Given the description of an element on the screen output the (x, y) to click on. 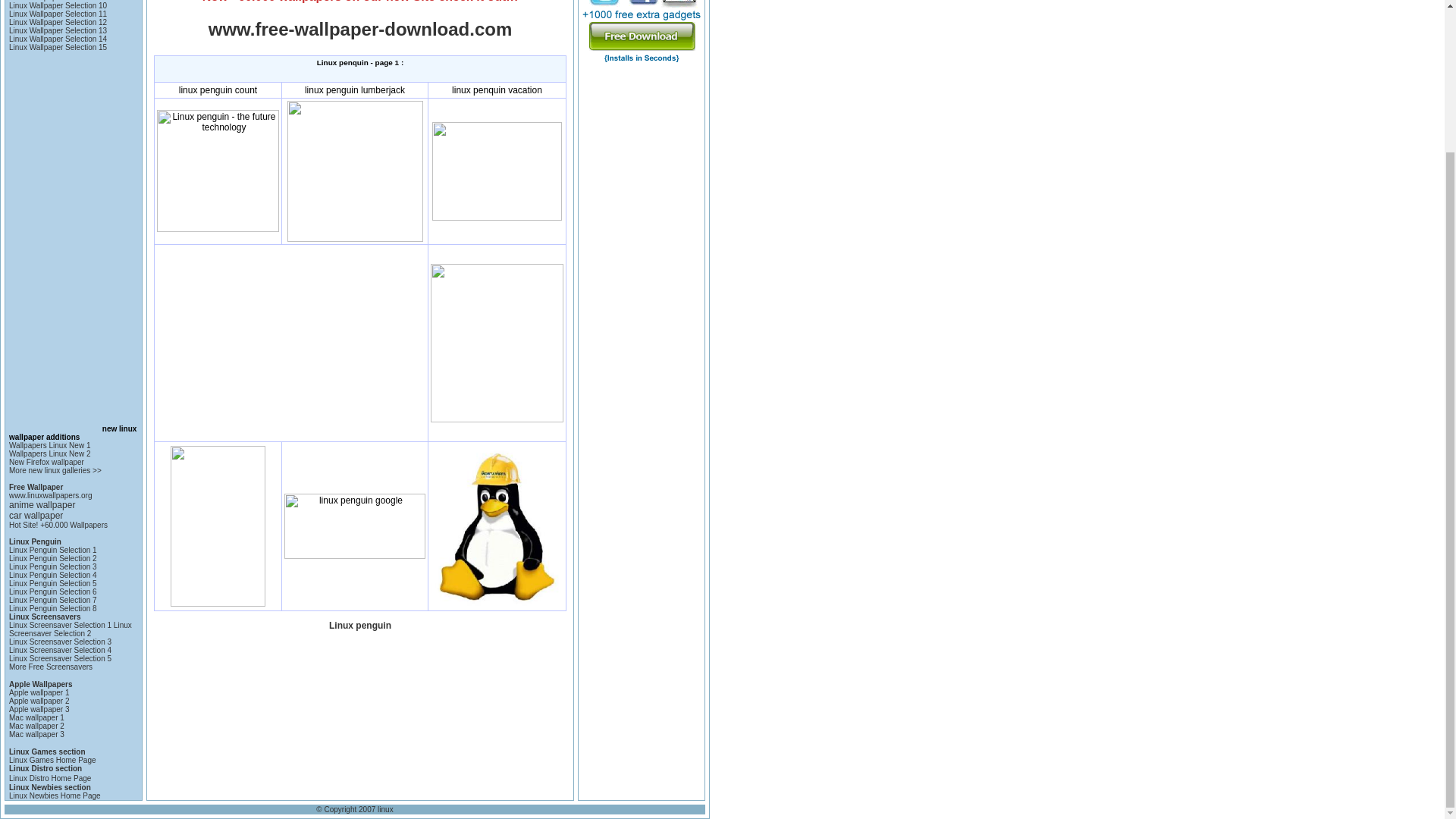
Linux Screensaver Selection 4 (60, 650)
Linux Penguin Selection 8 (52, 608)
Linux Penguin Selection 5 (52, 583)
Linux Wallpaper Selection 9 (55, 0)
Linux Penguin Selection 1 (52, 550)
Linux Penguin Selection 4 (52, 574)
Linux Wallpaper Selection 15 (57, 47)
Linux Penguin Selection 3 (52, 566)
New Firefox wallpaper (46, 461)
www.linuxwallpapers.org (50, 495)
Linux Screensaver Selection 5 (60, 658)
anime wallpaper (41, 504)
Wallpapers Linux New 1 (49, 445)
Linux Penguin Selection 7 (52, 600)
More Free Screensavers (50, 666)
